Given the description of an element on the screen output the (x, y) to click on. 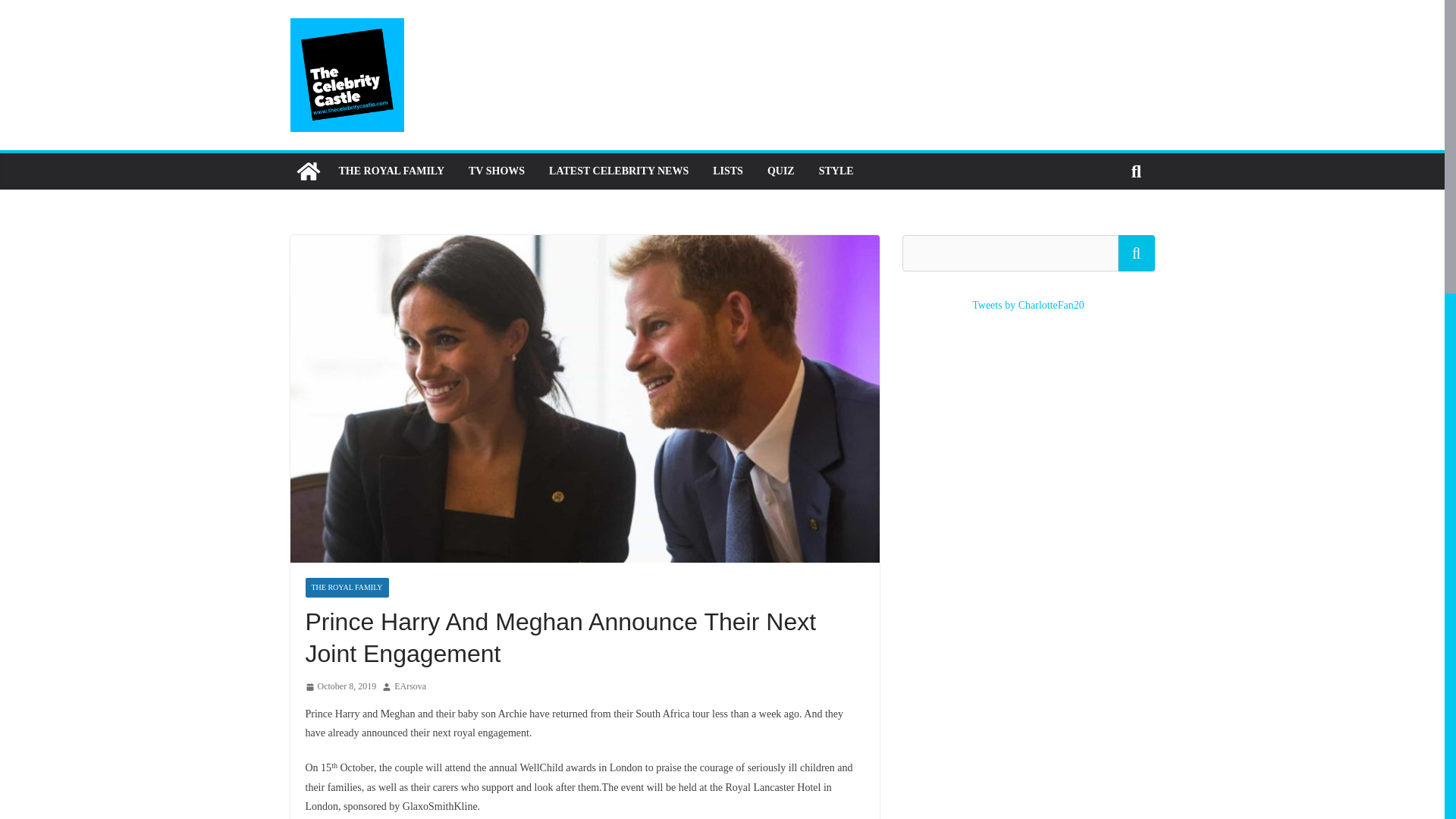
STYLE (835, 170)
The Celebrity Castle (307, 171)
THE ROYAL FAMILY (390, 170)
LISTS (727, 170)
LATEST CELEBRITY NEWS (618, 170)
October 8, 2019 (339, 686)
TV SHOWS (496, 170)
QUIZ (780, 170)
Tweets by CharlotteFan20 (1028, 305)
EArsova (410, 686)
